Given the description of an element on the screen output the (x, y) to click on. 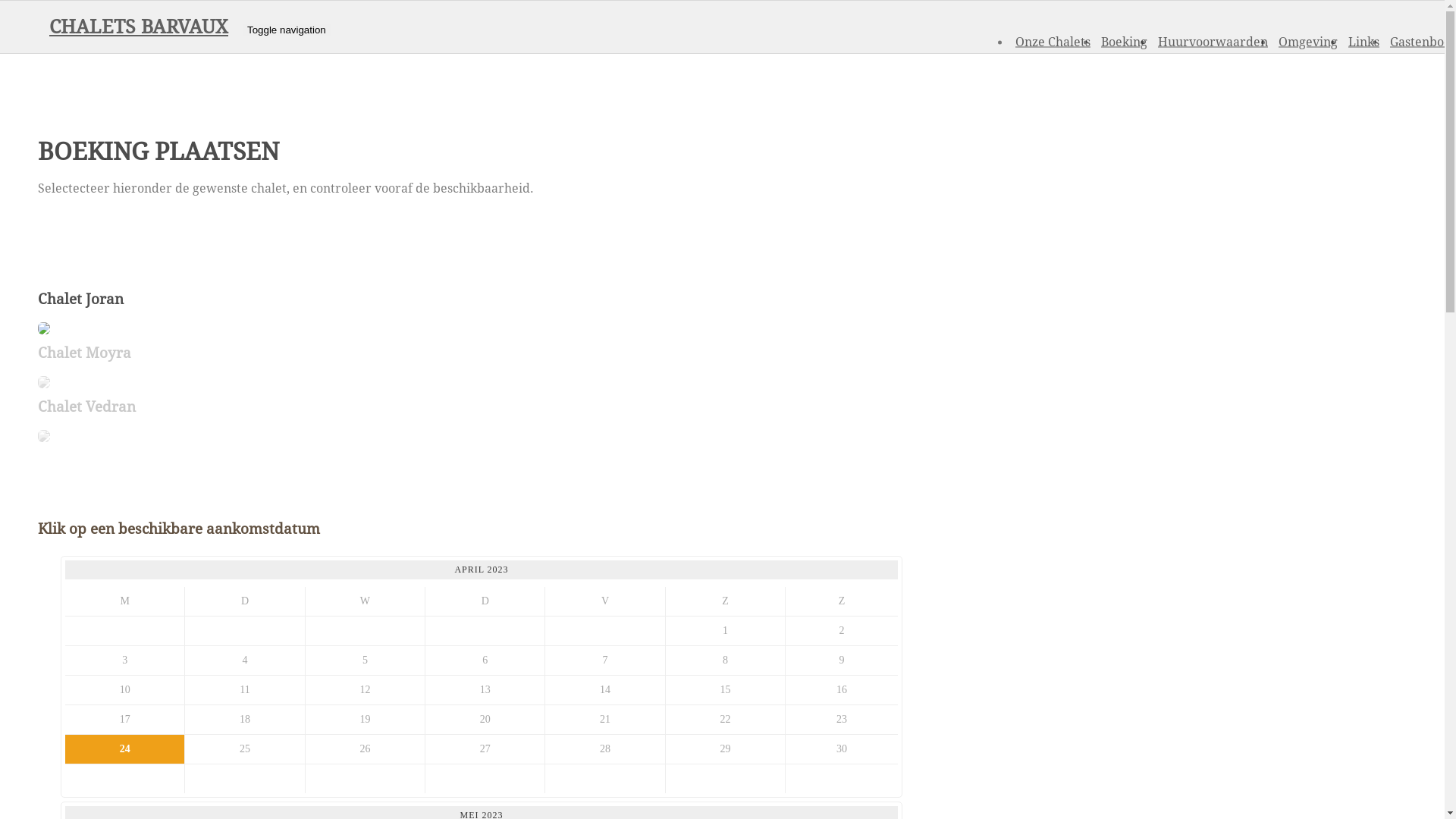
CHALETS BARVAUX Element type: text (138, 26)
Toggle navigation Element type: text (286, 29)
Links Element type: text (1363, 41)
Omgeving Element type: text (1308, 41)
Onze Chalets Element type: text (1052, 41)
Huurvoorwaarden Element type: text (1212, 41)
Boeking Element type: text (1123, 41)
